Given the description of an element on the screen output the (x, y) to click on. 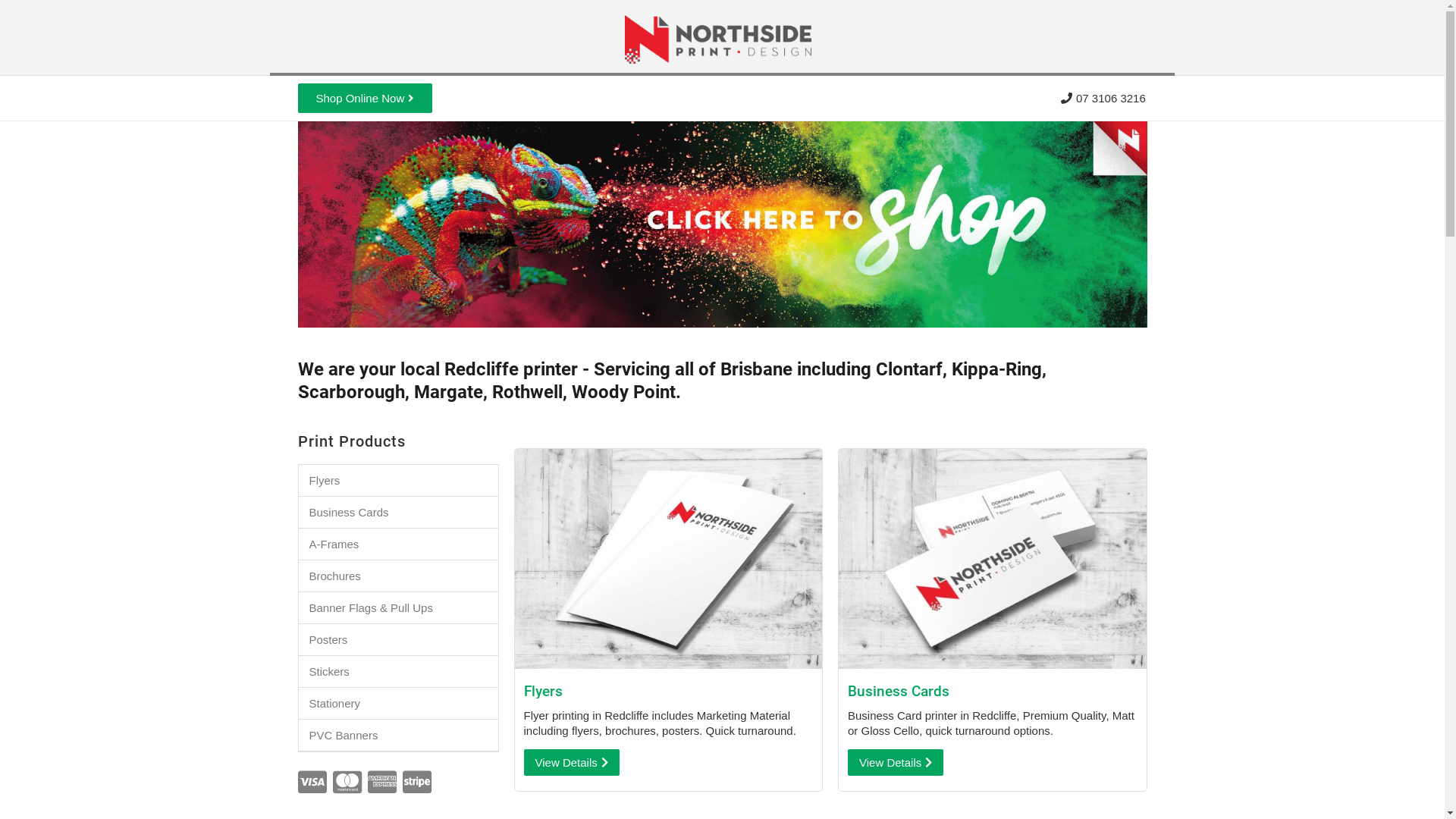
View Details Element type: text (570, 762)
Flyer Printing Redcliffe Element type: hover (668, 558)
Stickers Element type: text (398, 671)
Business Cards Element type: text (398, 511)
Business Card Printer Redcliffe Element type: hover (992, 558)
Stationery Element type: text (398, 702)
A-Frames Element type: text (398, 543)
07 3106 3216 Element type: text (1104, 97)
Shop Online Now Element type: text (364, 97)
Flyers Element type: text (398, 479)
View Details Element type: text (895, 762)
Brochures Element type: text (398, 575)
Posters Element type: text (398, 639)
Banner Flags & Pull Ups Element type: text (398, 607)
PVC Banners Element type: text (398, 734)
